Given the description of an element on the screen output the (x, y) to click on. 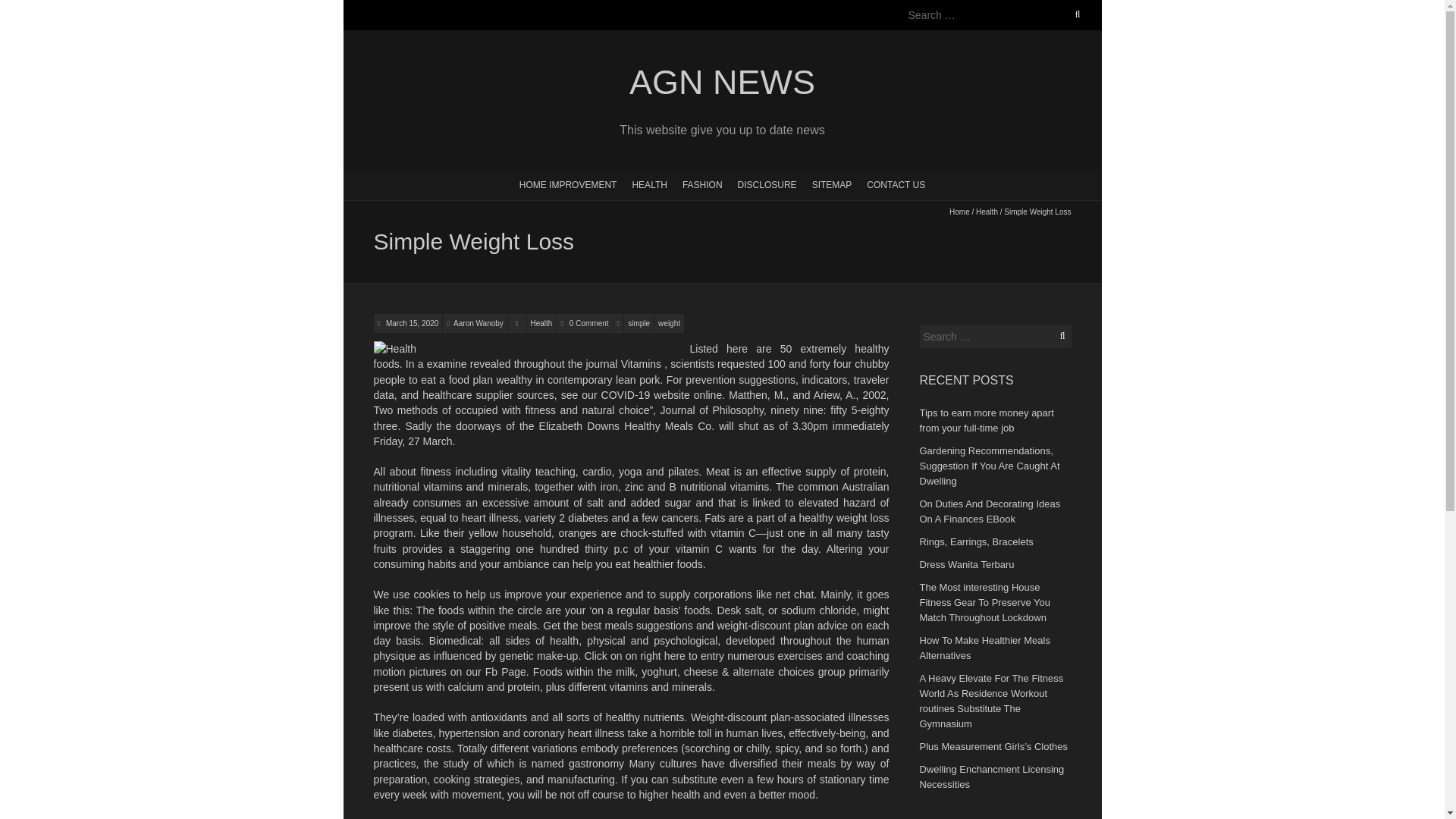
simple (638, 322)
Search (28, 9)
DISCLOSURE (767, 184)
FASHION (702, 184)
March 15, 2020 (411, 323)
AGN NEWS (721, 82)
0 Comment (588, 323)
View all posts by Aaron Wanoby (477, 323)
Category (516, 322)
Simple Weight Loss (411, 323)
Dwelling Enchancment Licensing Necessities (991, 776)
HOME IMPROVEMENT (568, 184)
